Given the description of an element on the screen output the (x, y) to click on. 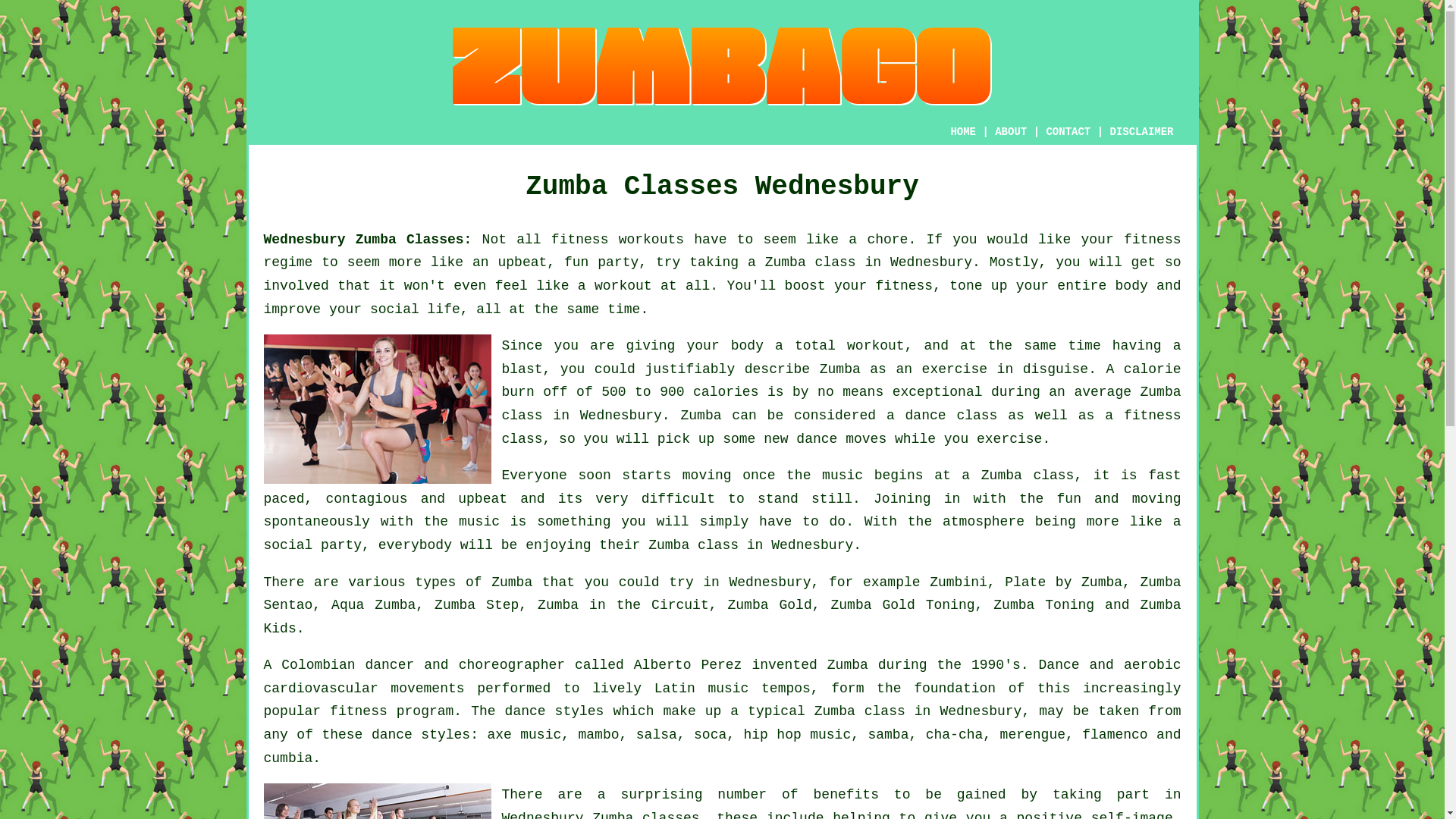
Wednesbury Zumba Classes: (367, 239)
Zumba (785, 262)
dance styles (554, 711)
ABOUT (1010, 132)
CONTACT (1067, 132)
HOME (962, 132)
exercise in disguise (1005, 368)
fitness class (841, 426)
Zumba (847, 664)
dance styles (420, 734)
fitness workouts (617, 239)
Zumba Gold (768, 604)
class (717, 544)
DISCLAIMER (1141, 132)
